Given the description of an element on the screen output the (x, y) to click on. 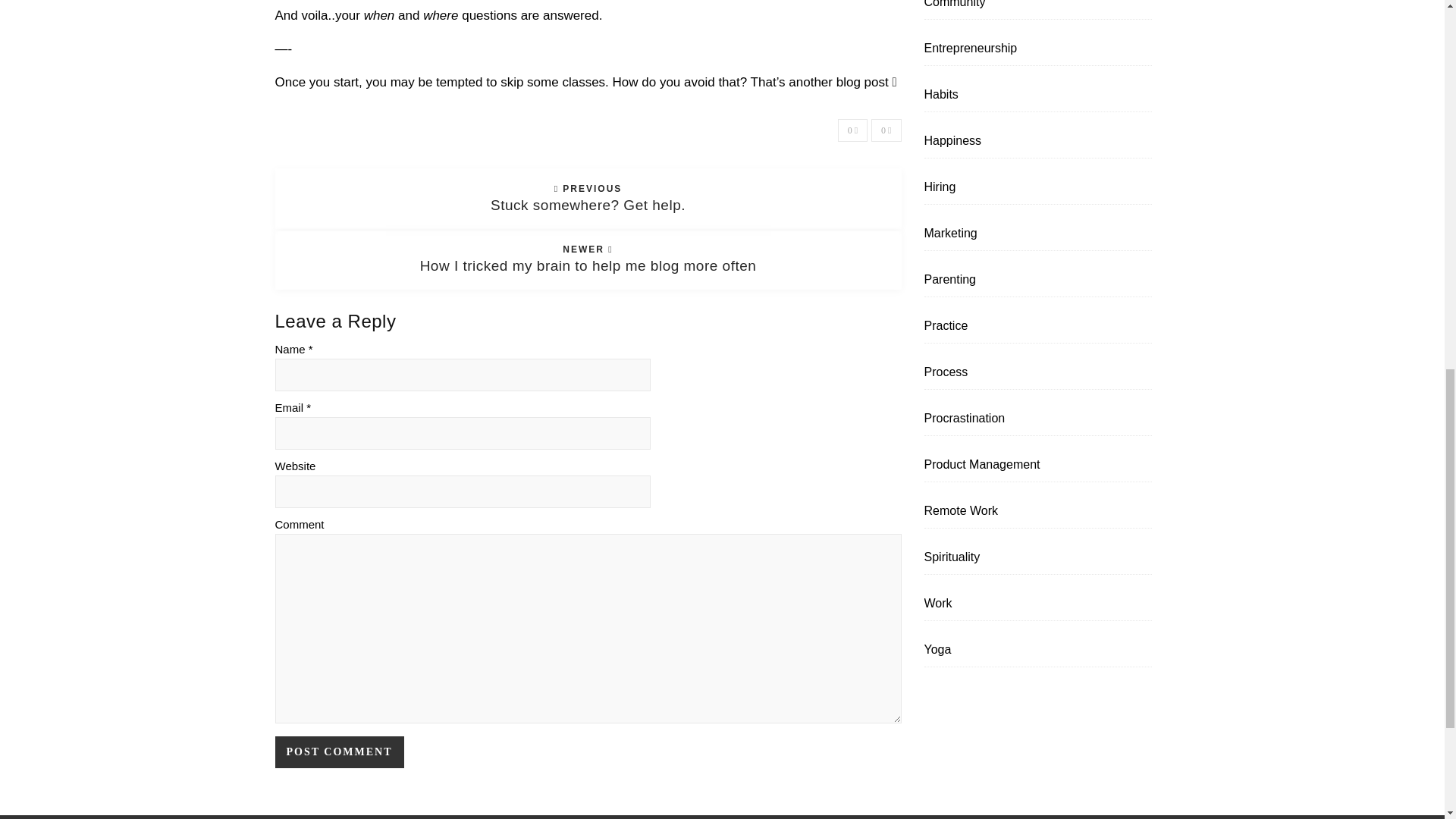
Hiring (939, 186)
Process (945, 371)
0  (852, 129)
0  (885, 129)
Post Comment (339, 752)
Marketing (949, 232)
Practice (945, 325)
Entrepreneurship (969, 47)
